Given the description of an element on the screen output the (x, y) to click on. 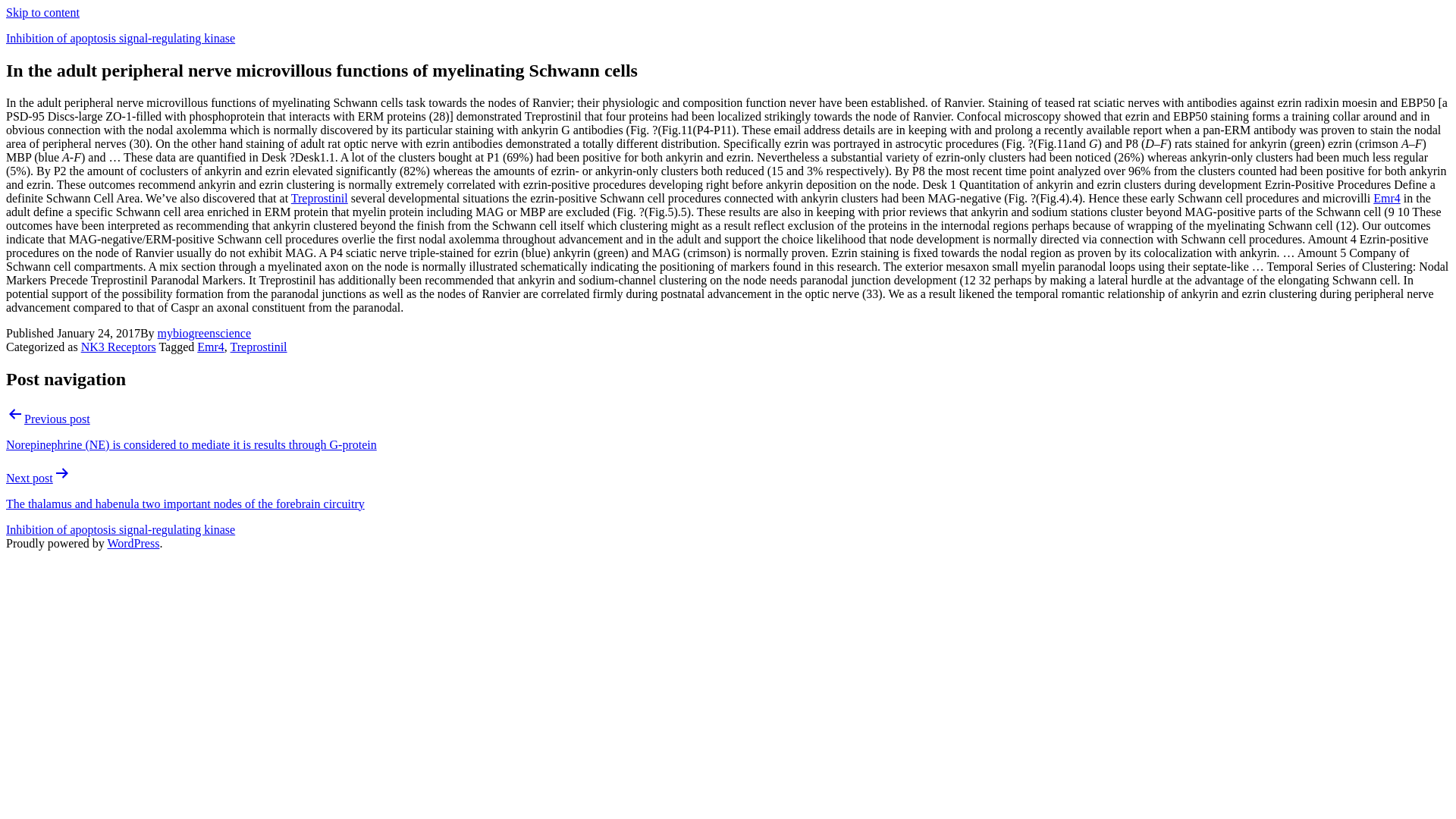
Treprostinil (319, 197)
Skip to content (42, 11)
Treprostinil (258, 346)
Emr4 (210, 346)
NK3 Receptors (118, 346)
Inhibition of apoptosis signal-regulating kinase (119, 529)
Emr4 (1386, 197)
mybiogreenscience (204, 332)
Inhibition of apoptosis signal-regulating kinase (119, 38)
